Given the description of an element on the screen output the (x, y) to click on. 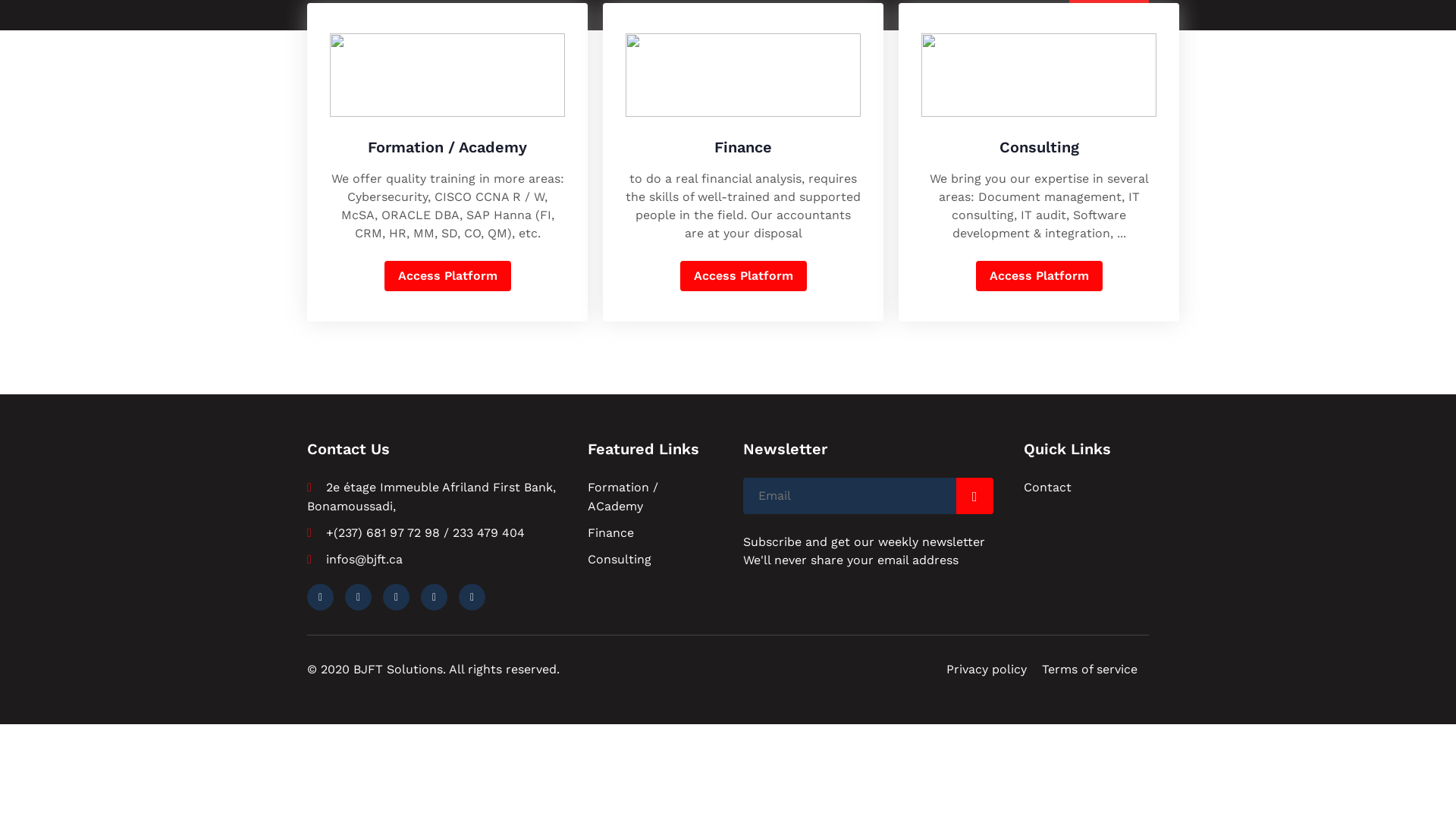
+(237) 681 97 72 98 / 233 479 404 Element type: text (415, 532)
Access Platform Element type: text (742, 275)
infos@bjft.ca Element type: text (354, 559)
Privacy policy Element type: text (986, 669)
+142 5897555 Element type: text (355, 14)
Contact Element type: text (1047, 487)
Access Platform Element type: text (446, 275)
Write Us Element type: text (1108, 15)
Terms of service Element type: text (1089, 669)
Formation / ACademy Element type: text (622, 496)
Finance Element type: text (610, 532)
info@bjft.ca Element type: text (482, 14)
Access Platform Element type: text (1038, 275)
Consulting Element type: text (619, 559)
